Given the description of an element on the screen output the (x, y) to click on. 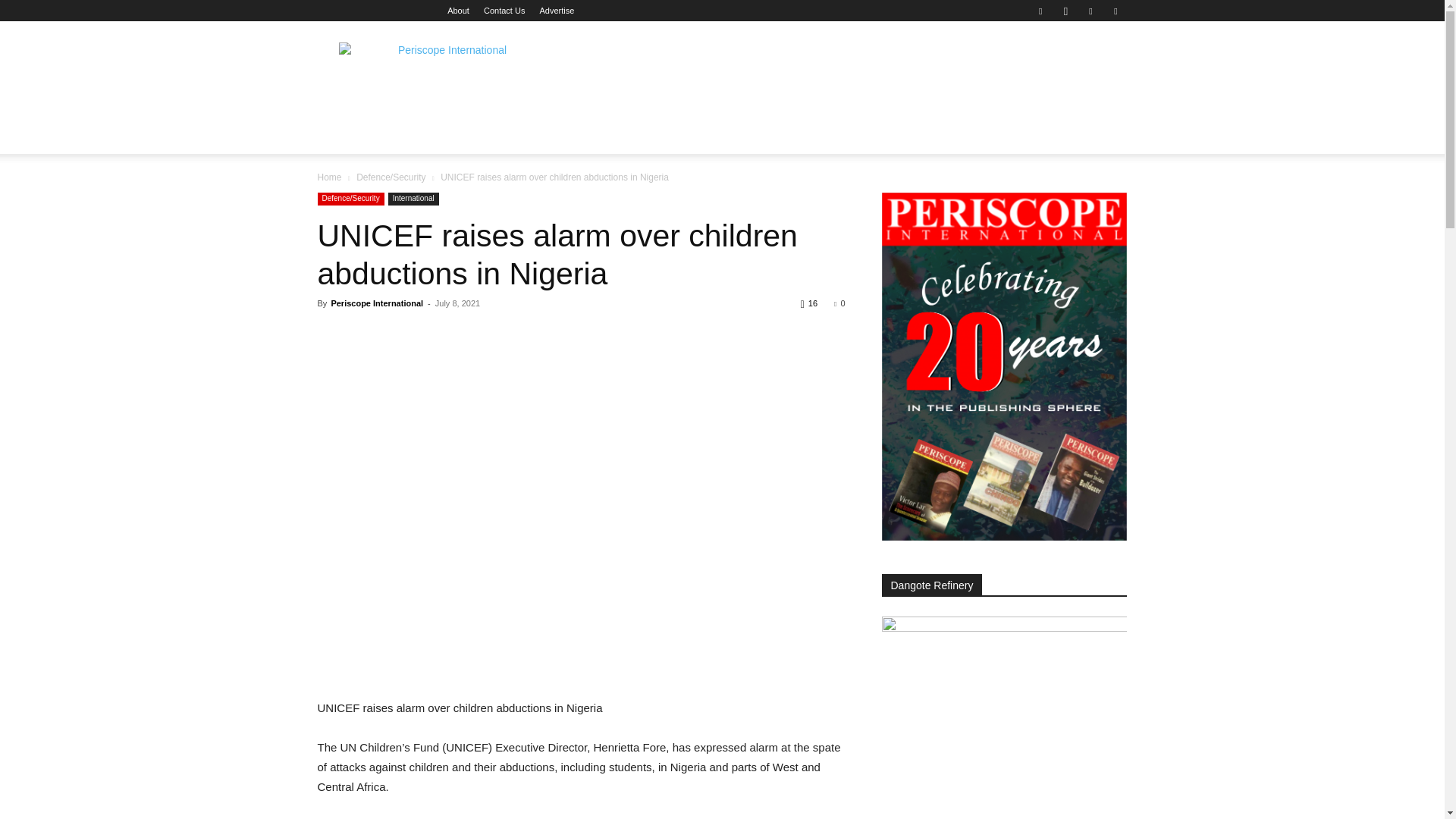
Youtube (1114, 10)
VKontakte (1090, 10)
NEWS (396, 135)
About (457, 10)
Facebook (1040, 10)
Contact Us (503, 10)
HOME (343, 135)
Instagram (1065, 10)
Advertise (555, 10)
